Given the description of an element on the screen output the (x, y) to click on. 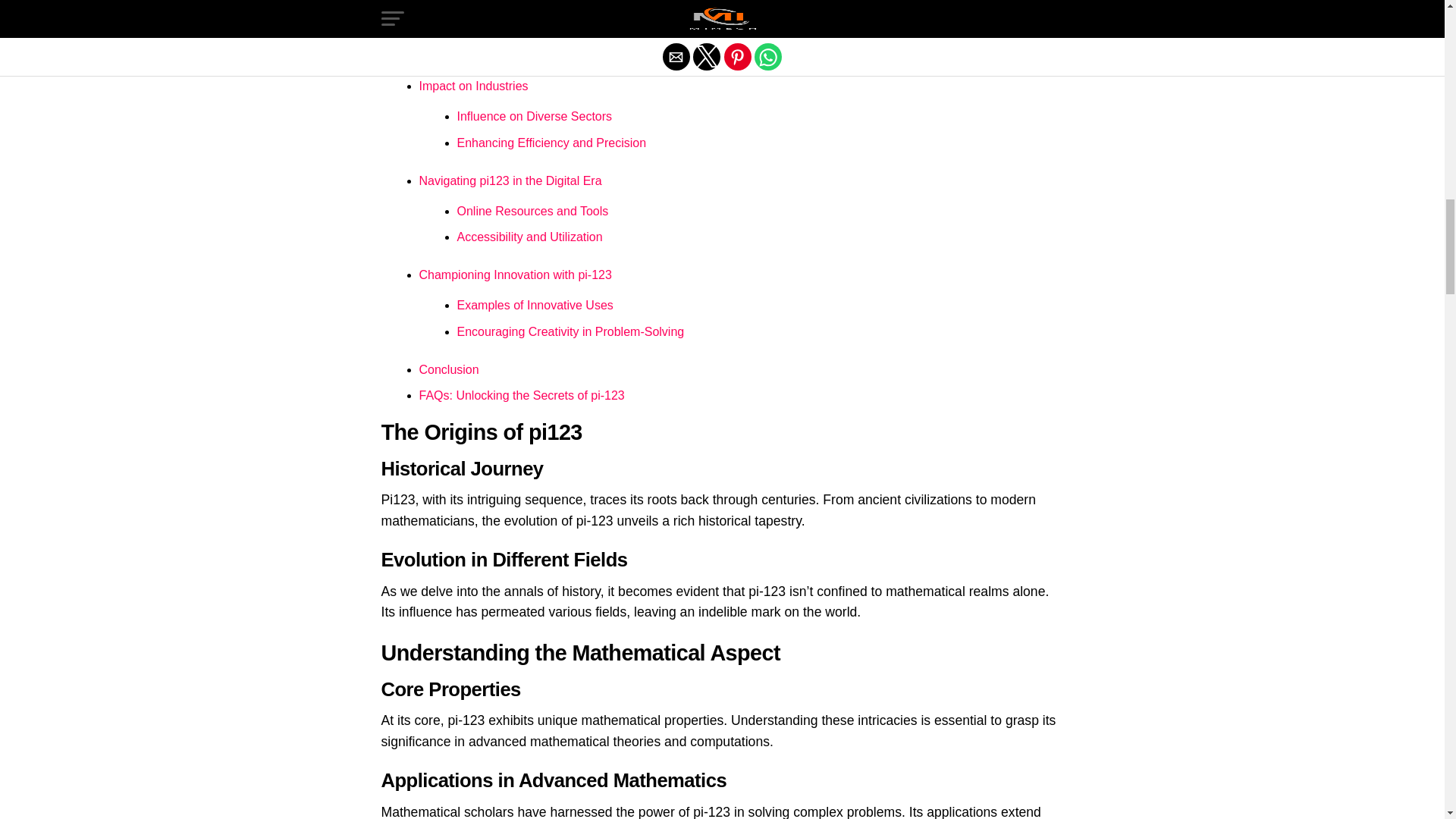
Enhancing Efficiency and Precision (551, 142)
Online Resources and Tools (532, 210)
Symbolic Meanings and Interpretations (561, 48)
Influence on Diverse Sectors (534, 115)
Impact on Industries (473, 85)
Navigating pi123 in the Digital Era (510, 180)
Philosophical Interpretations (532, 21)
